Given the description of an element on the screen output the (x, y) to click on. 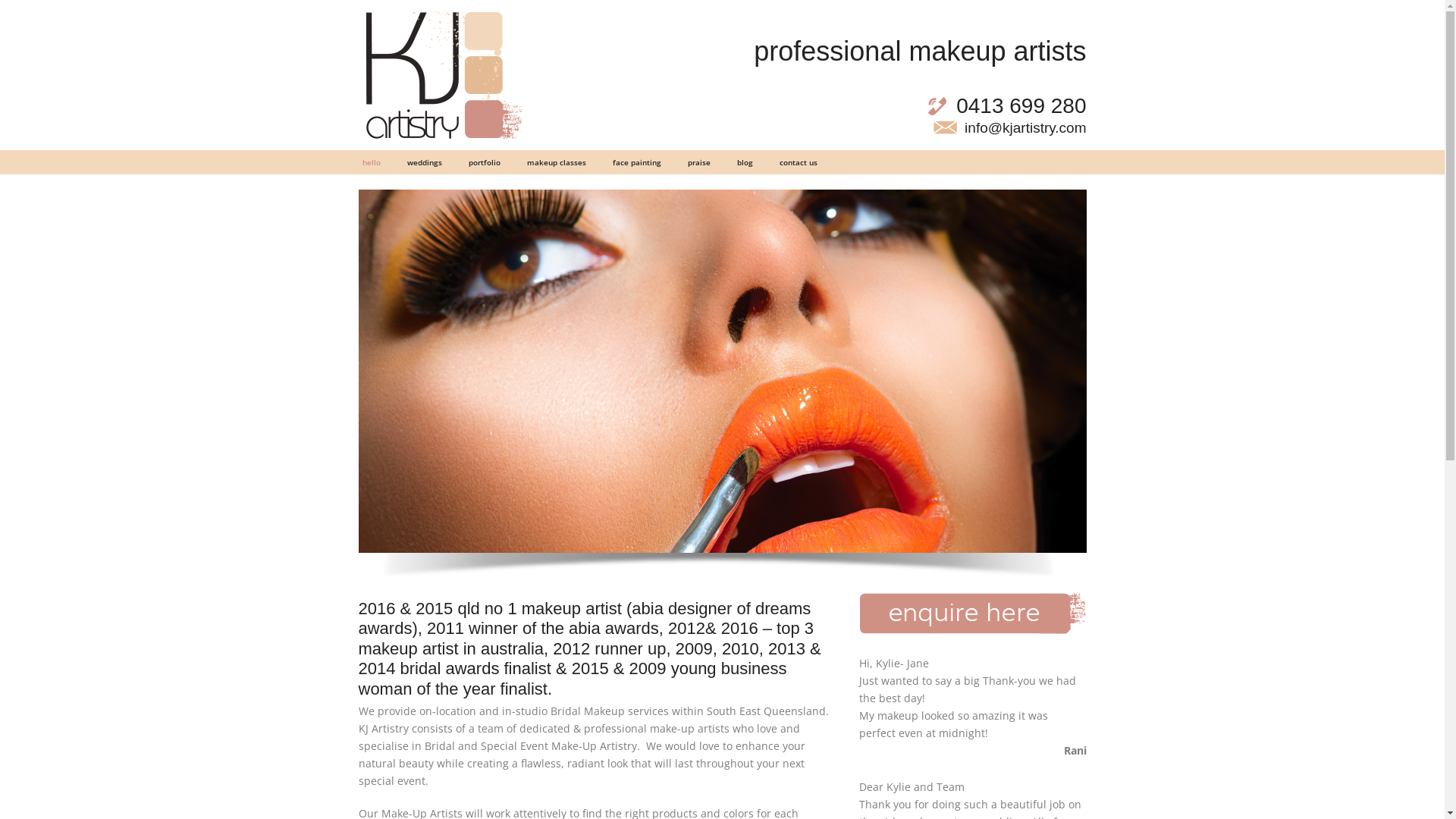
praise Element type: text (699, 162)
blog Element type: text (744, 162)
makeup classes Element type: text (556, 162)
portfolio Element type: text (483, 162)
face painting Element type: text (636, 162)
kj artistry Element type: text (442, 75)
hello Element type: text (370, 162)
contact us Element type: text (797, 162)
weddings Element type: text (424, 162)
